Given the description of an element on the screen output the (x, y) to click on. 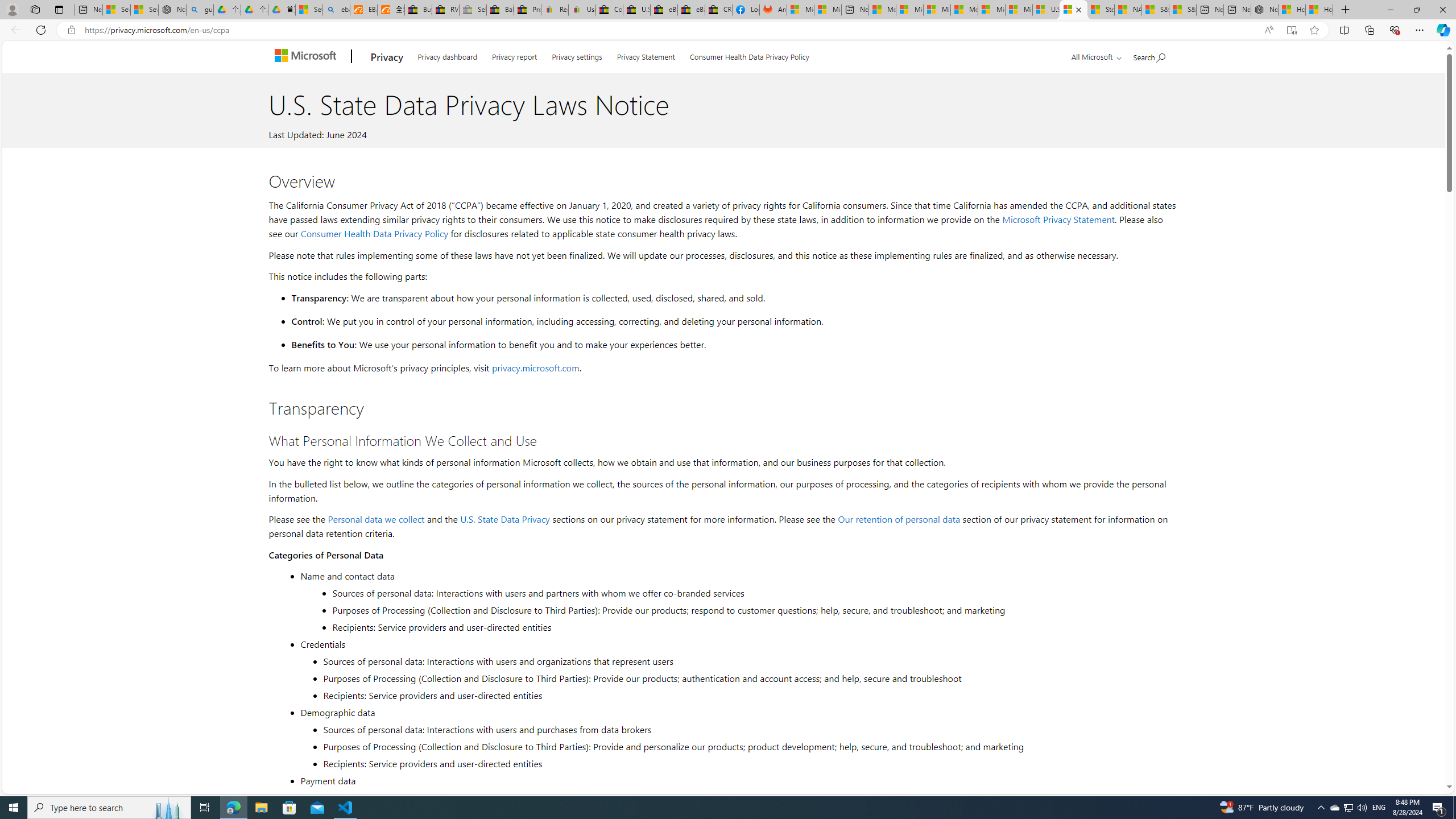
Restore (1416, 9)
Workspaces (34, 9)
Enter Immersive Reader (F9) (1291, 29)
Microsoft account | Privacy (909, 9)
Close (1442, 9)
View site information (70, 29)
Privacy dashboard (447, 54)
New tab (1236, 9)
Copilot (Ctrl+Shift+.) (1442, 29)
Demographic data (736, 712)
